Given the description of an element on the screen output the (x, y) to click on. 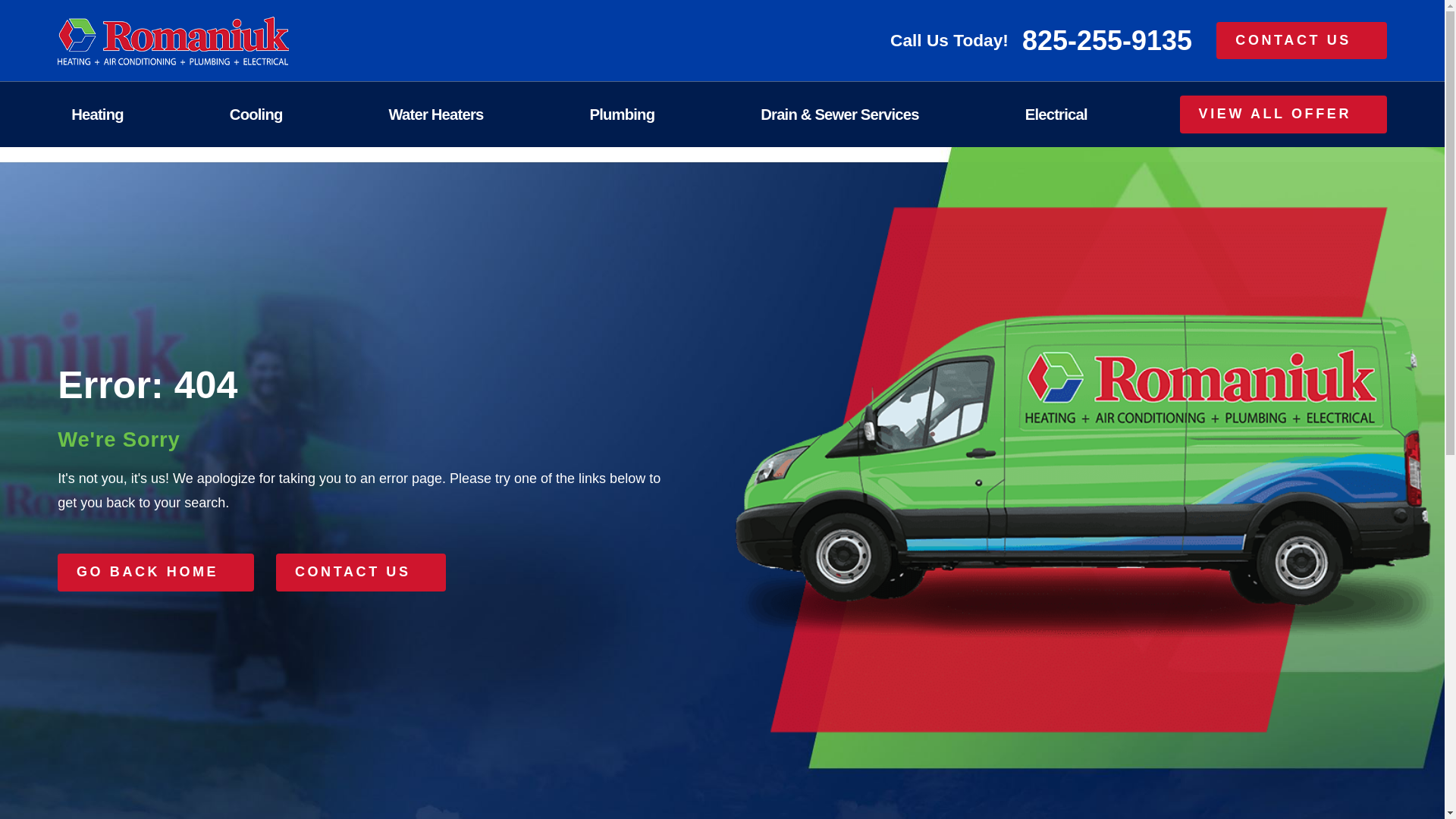
CONTACT US (1300, 40)
Heating (124, 114)
Electrical (1083, 114)
Cooling (283, 114)
Home (173, 40)
Water Heaters (463, 114)
Plumbing (649, 114)
825-255-9135 (1107, 40)
